Given the description of an element on the screen output the (x, y) to click on. 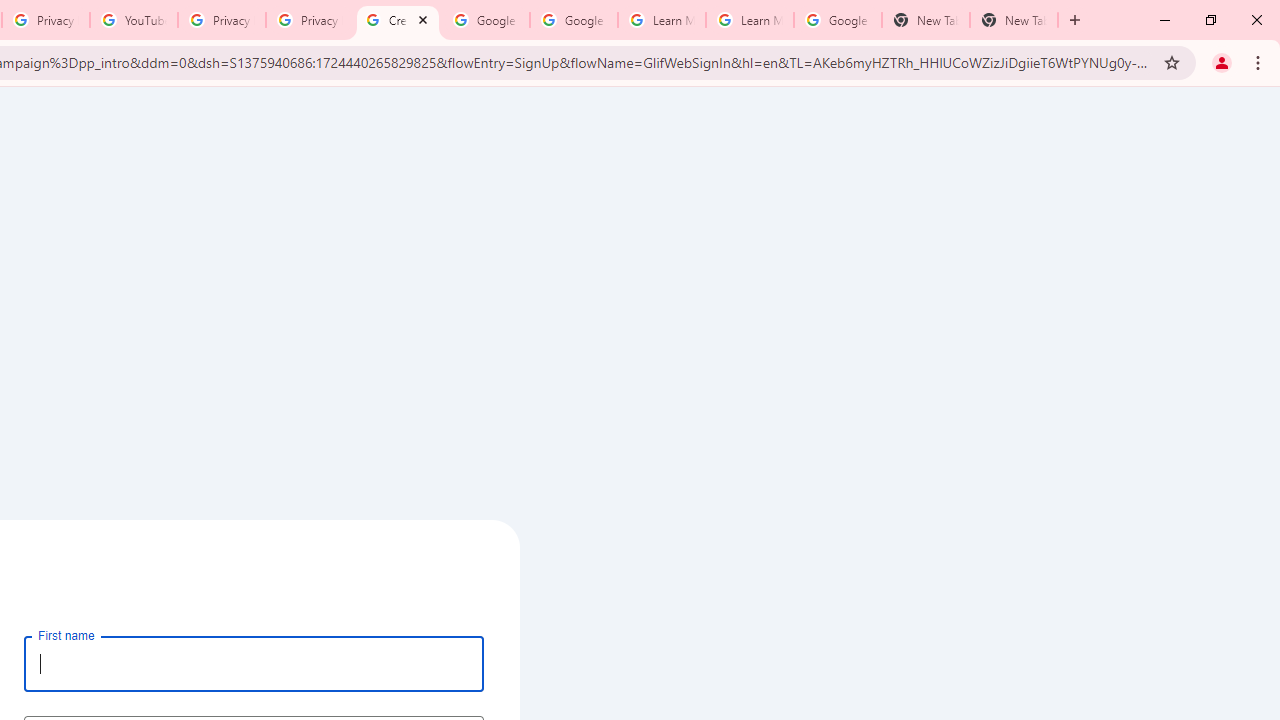
Google Account Help (485, 20)
New Tab (1014, 20)
YouTube (133, 20)
First name (253, 663)
Google Account Help (573, 20)
Create your Google Account (397, 20)
New Tab (925, 20)
